Given the description of an element on the screen output the (x, y) to click on. 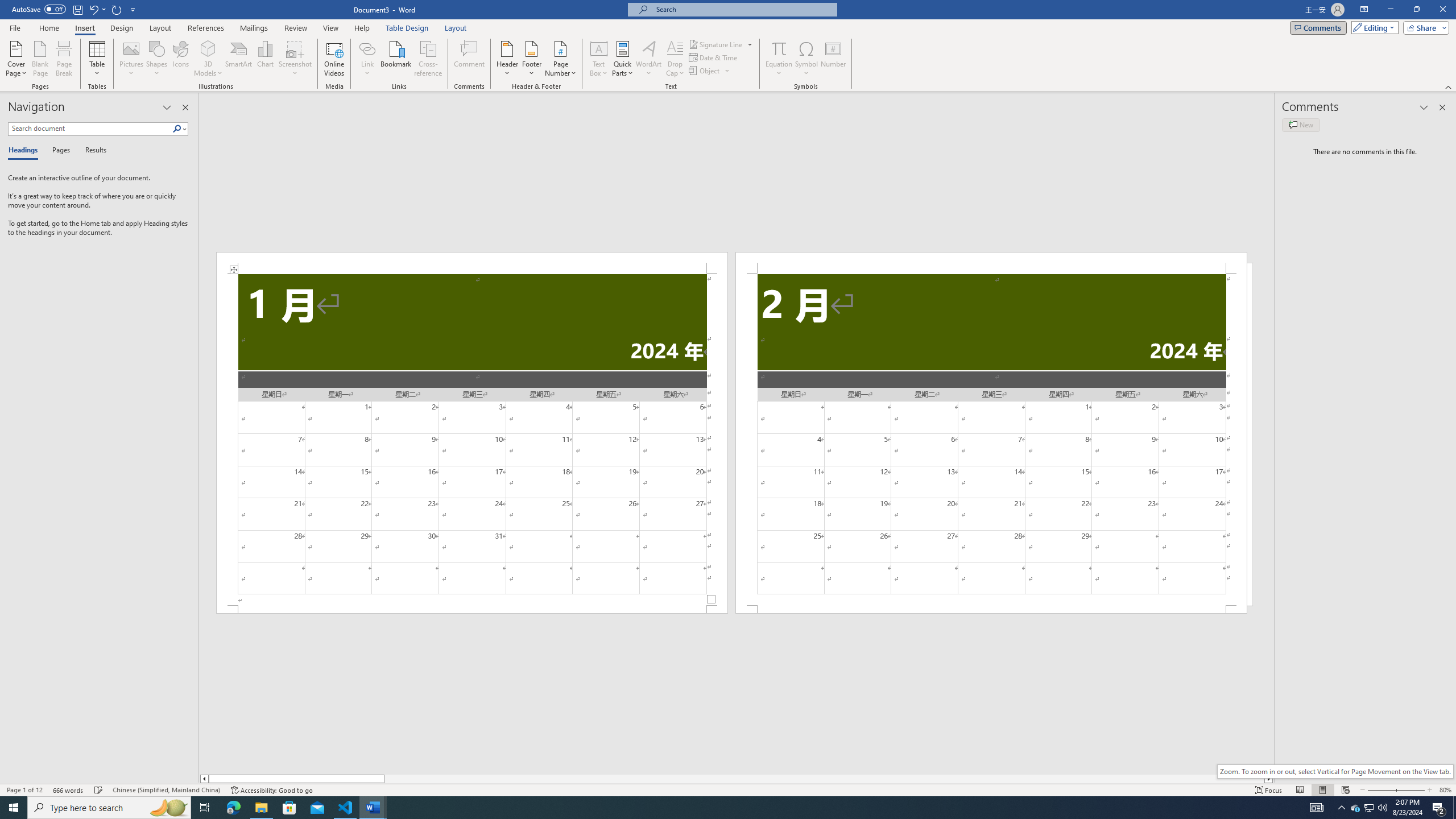
Date & Time... (714, 56)
Text Box (598, 58)
Page Break (63, 58)
Page 1 content (471, 439)
Table (97, 58)
Number... (833, 58)
Cross-reference... (428, 58)
Blank Page (40, 58)
